Given the description of an element on the screen output the (x, y) to click on. 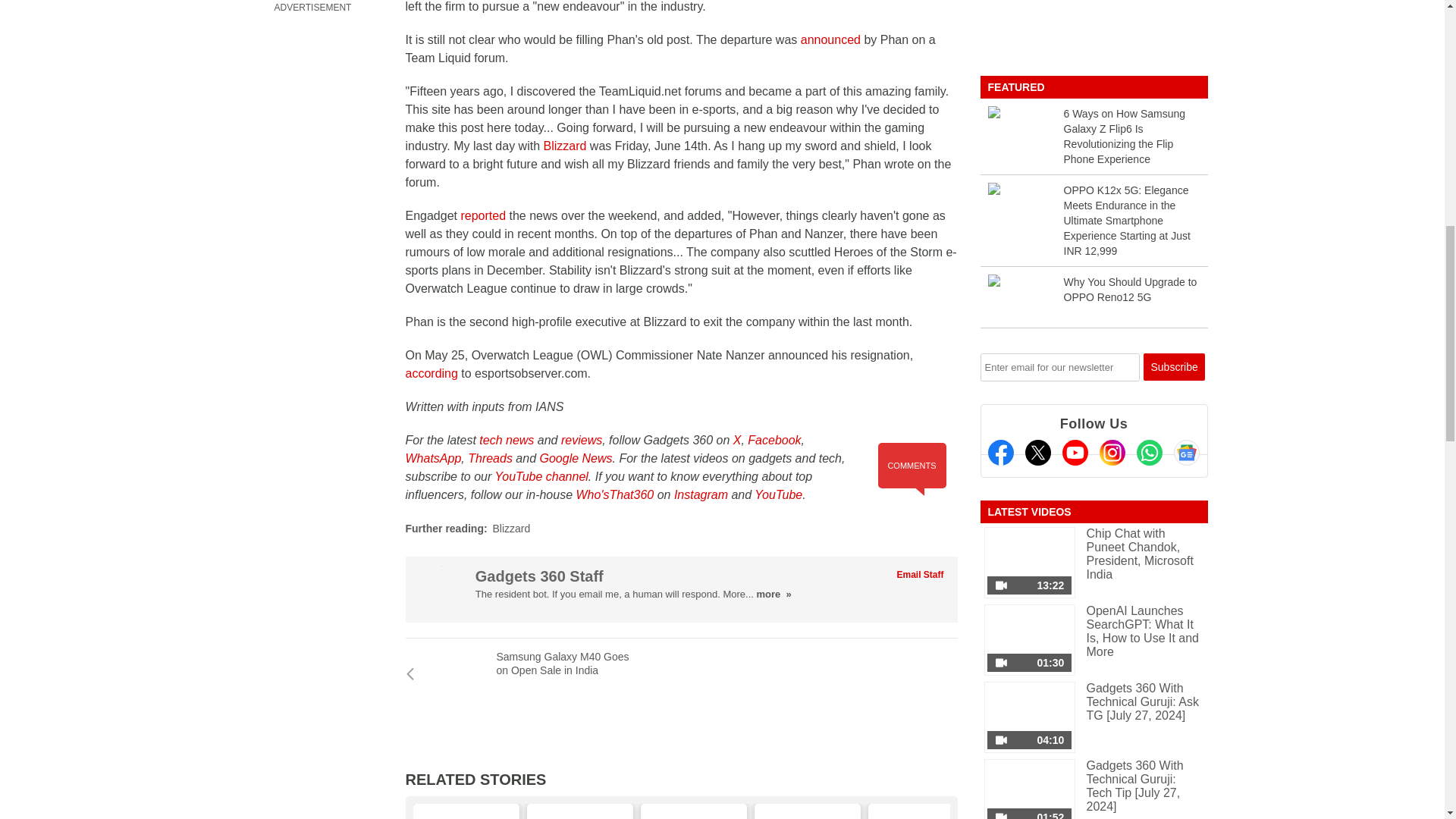
Subscribe (1173, 366)
